Given the description of an element on the screen output the (x, y) to click on. 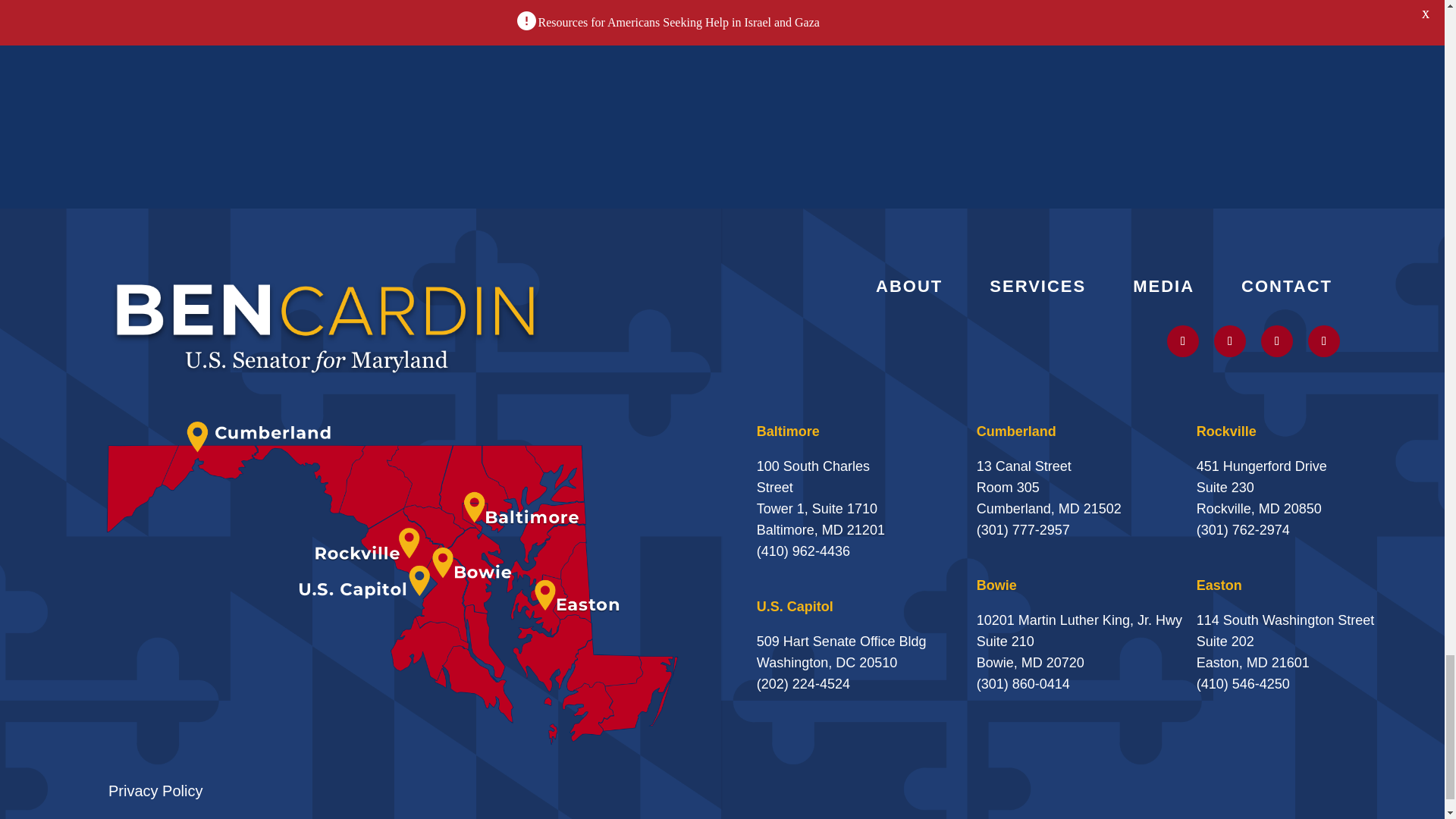
Follow on X (1182, 341)
Follow on Youtube (1276, 341)
Follow on Instagram (1230, 341)
Footer (326, 325)
Follow on Facebook (1323, 341)
Privacy Policy (154, 790)
